Given the description of an element on the screen output the (x, y) to click on. 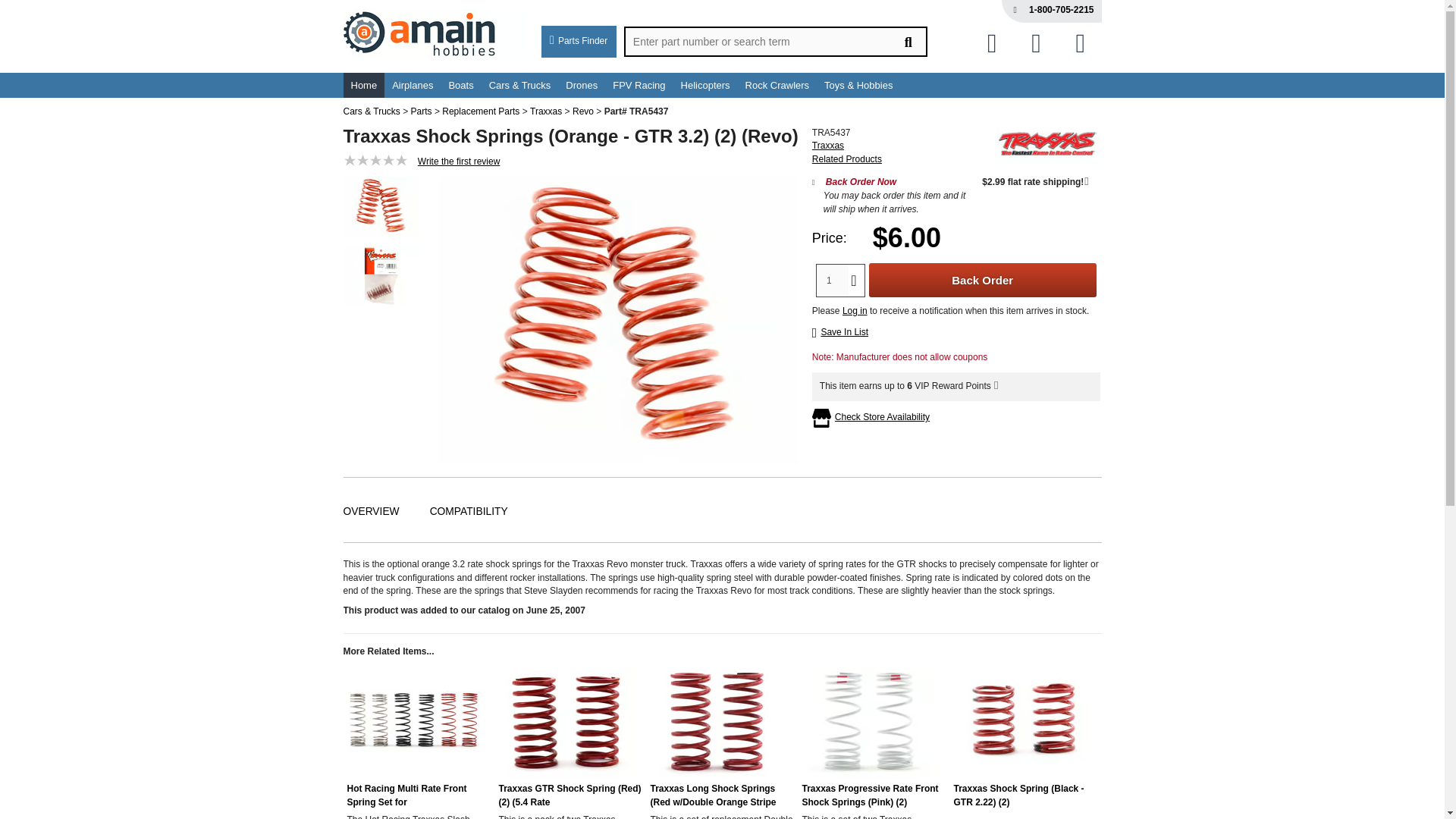
Click to Check Store Availability (882, 418)
1-800-705-2215 (1061, 9)
Home (363, 84)
1 (832, 279)
Parts Finder (578, 41)
My Account (1036, 43)
AMain Hobbies (435, 36)
